Given the description of an element on the screen output the (x, y) to click on. 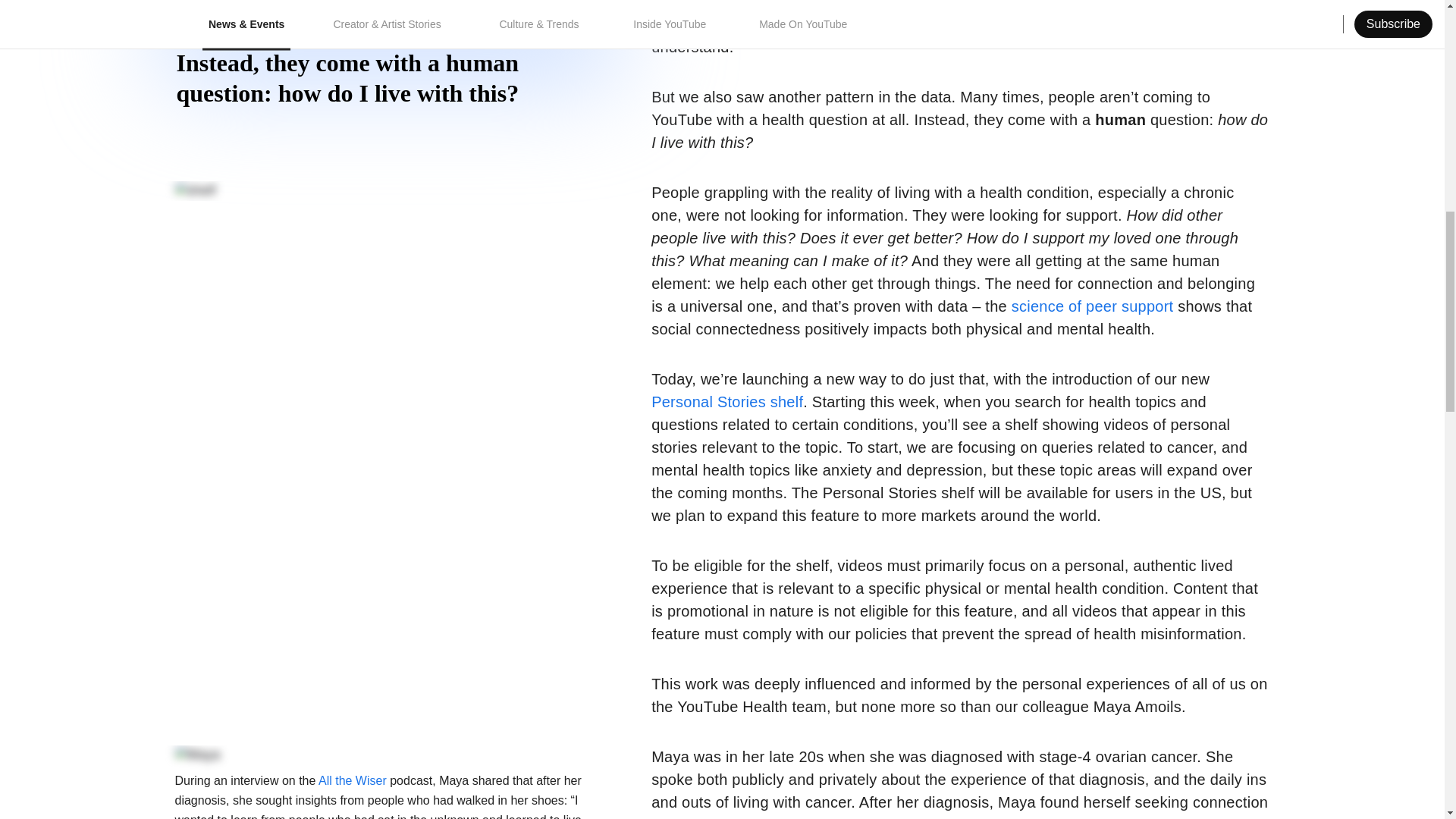
All the Wiser (352, 779)
science of peer support (1092, 306)
Personal Stories shelf (726, 401)
